Given the description of an element on the screen output the (x, y) to click on. 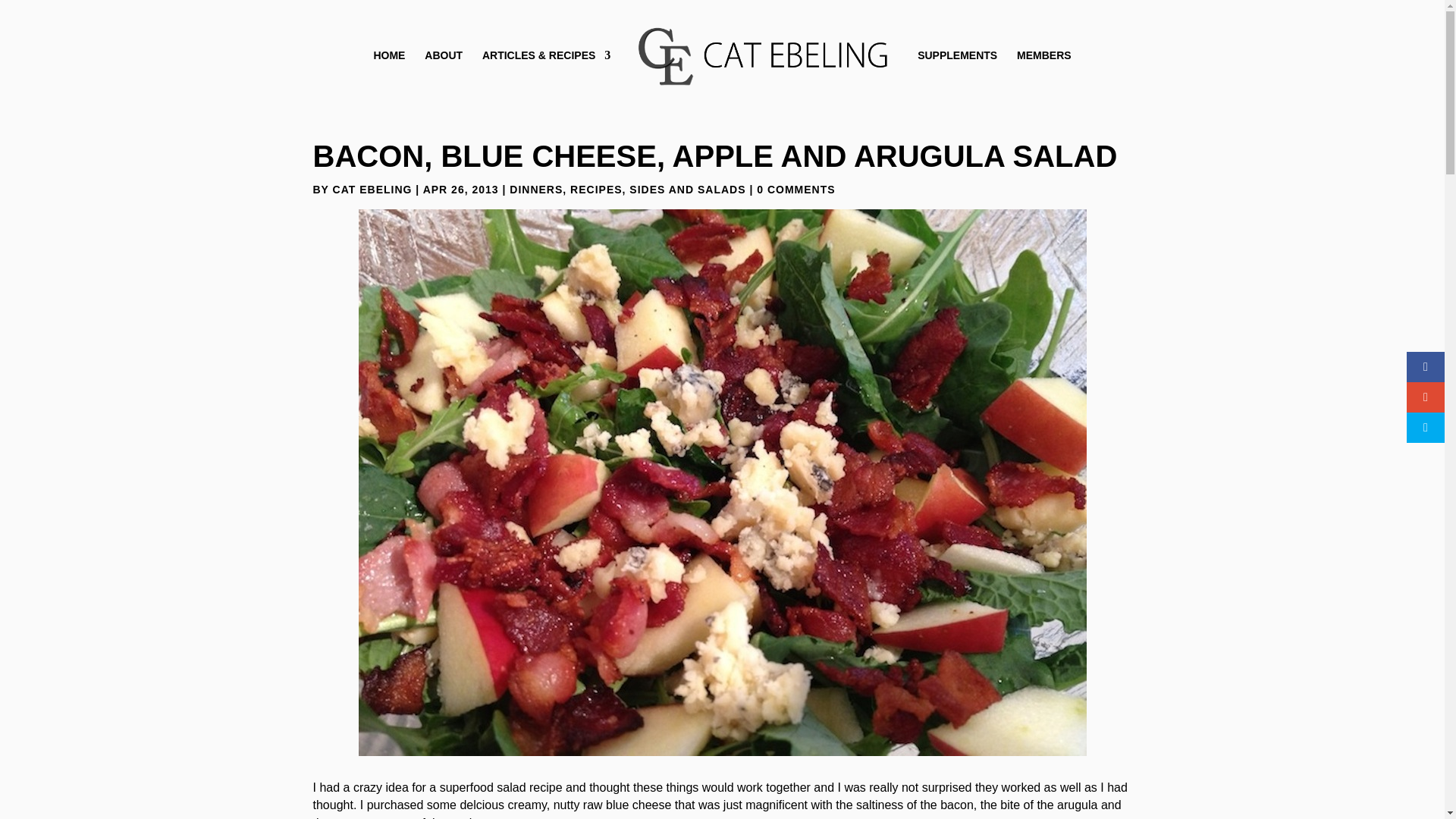
0 COMMENTS (795, 189)
CAT EBELING (372, 189)
RECIPES (595, 189)
ABOUT (444, 64)
HOME (388, 64)
SUPPLEMENTS (957, 64)
MEMBERS (1043, 64)
SIDES AND SALADS (686, 189)
DINNERS (535, 189)
Posts by Cat Ebeling (372, 189)
